Given the description of an element on the screen output the (x, y) to click on. 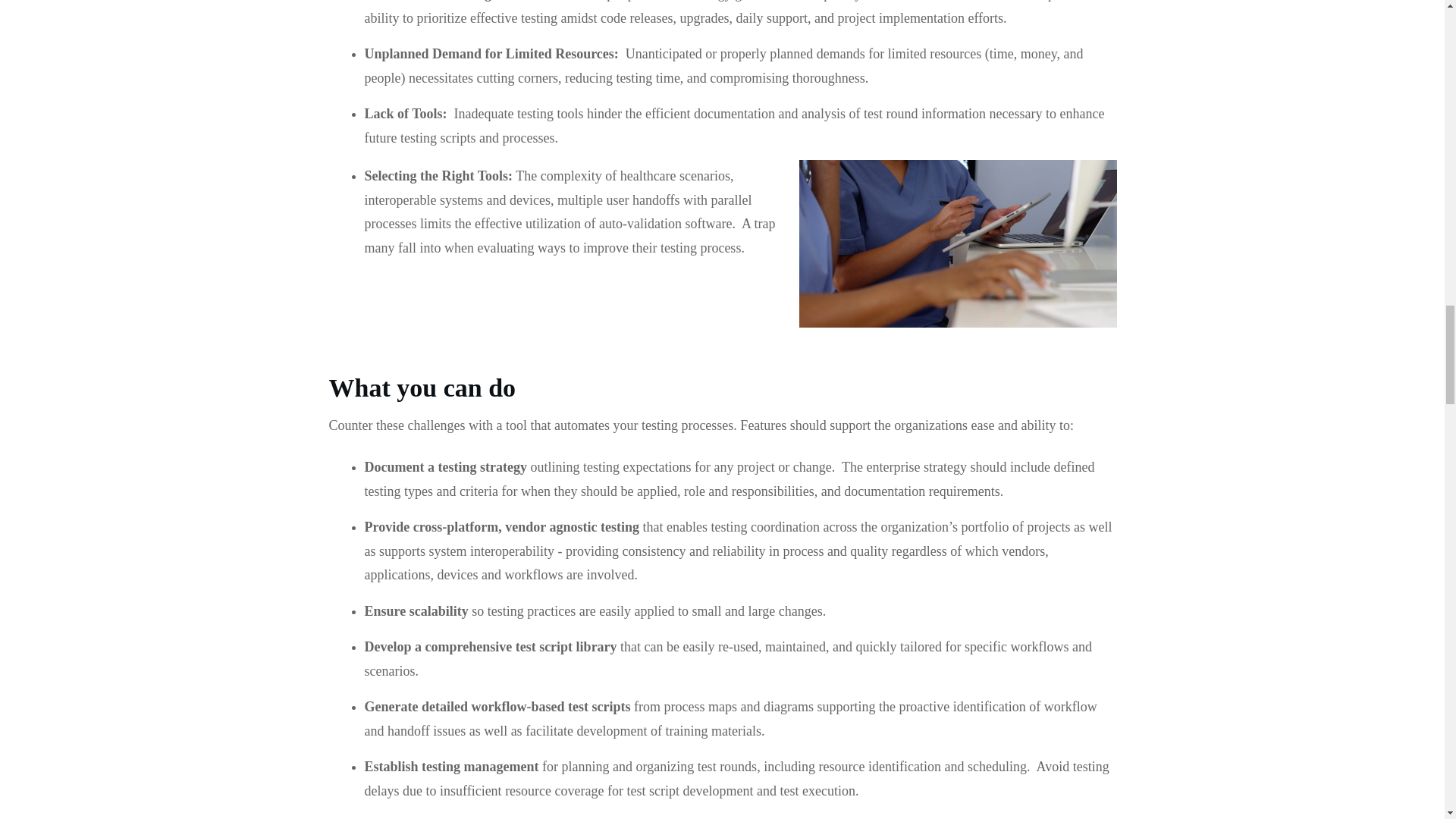
Close up hands of two female doctors working with computers (957, 243)
